Given the description of an element on the screen output the (x, y) to click on. 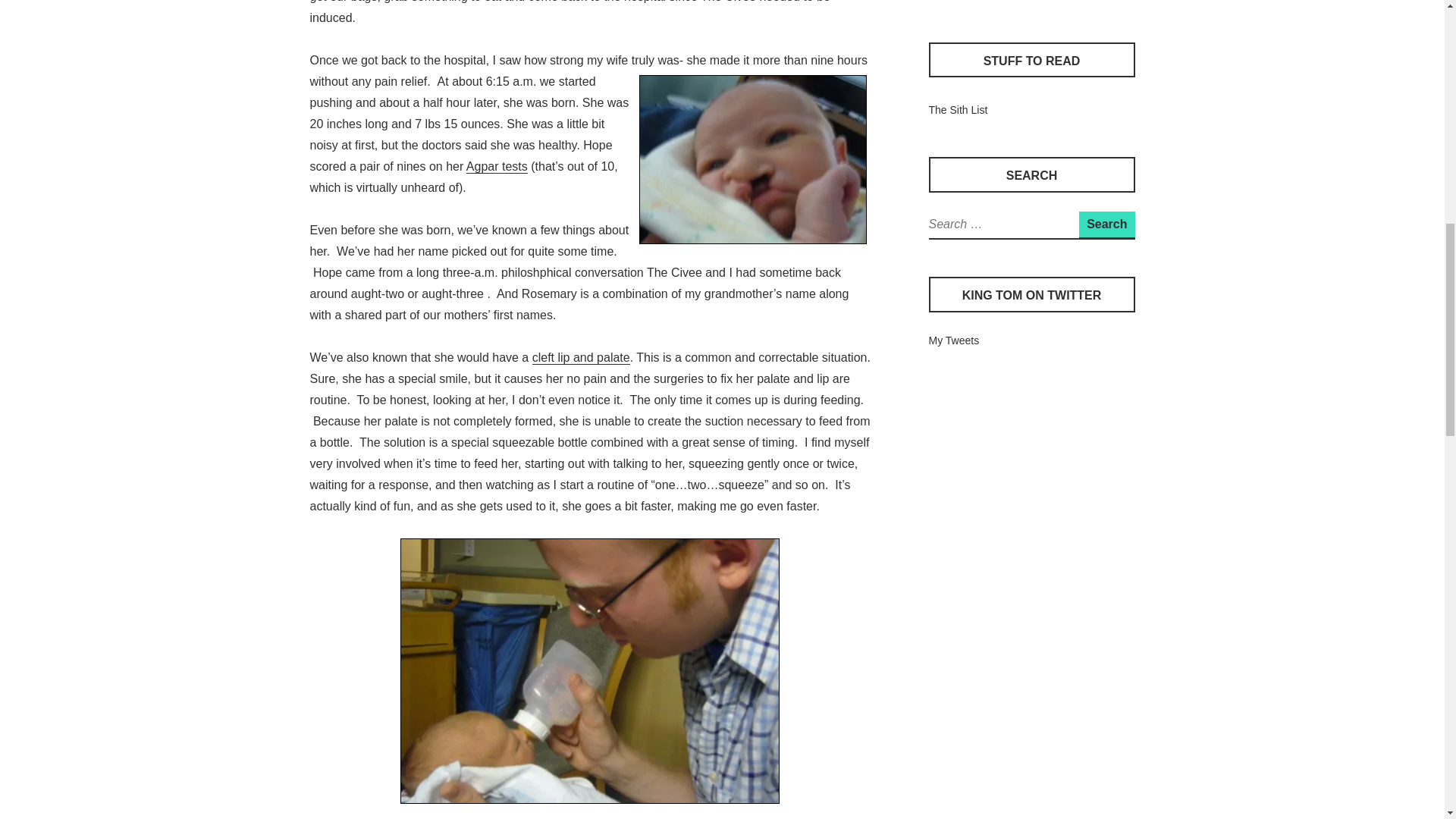
Agpar tests (496, 166)
cleft lip and palate (581, 357)
The Sith List (957, 110)
The Sith List, Fool! (957, 110)
Weezer (945, 0)
Search (1106, 224)
Search (1106, 224)
Search (1106, 224)
My Tweets (953, 340)
Baby Hope (752, 159)
Feeding Hope (589, 670)
